Given the description of an element on the screen output the (x, y) to click on. 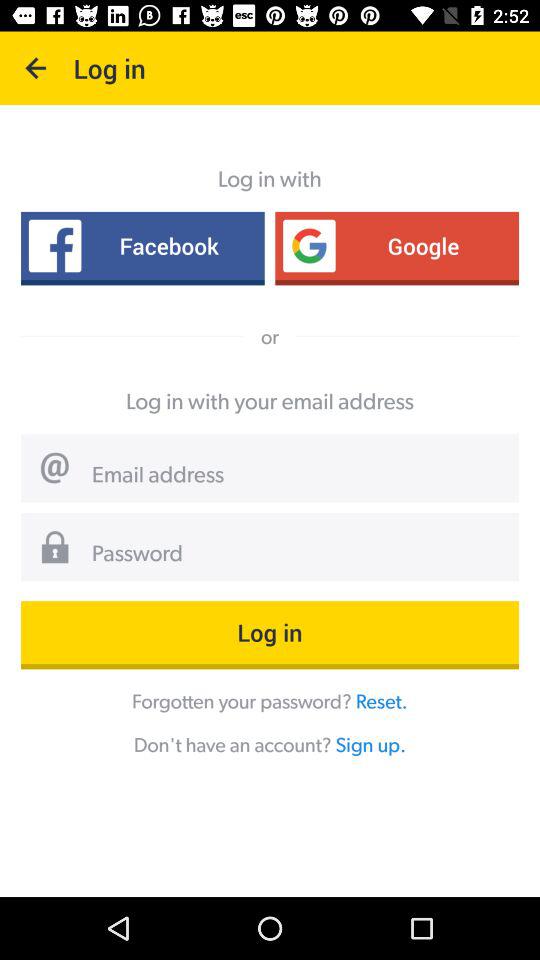
tap reset. icon (381, 700)
